Given the description of an element on the screen output the (x, y) to click on. 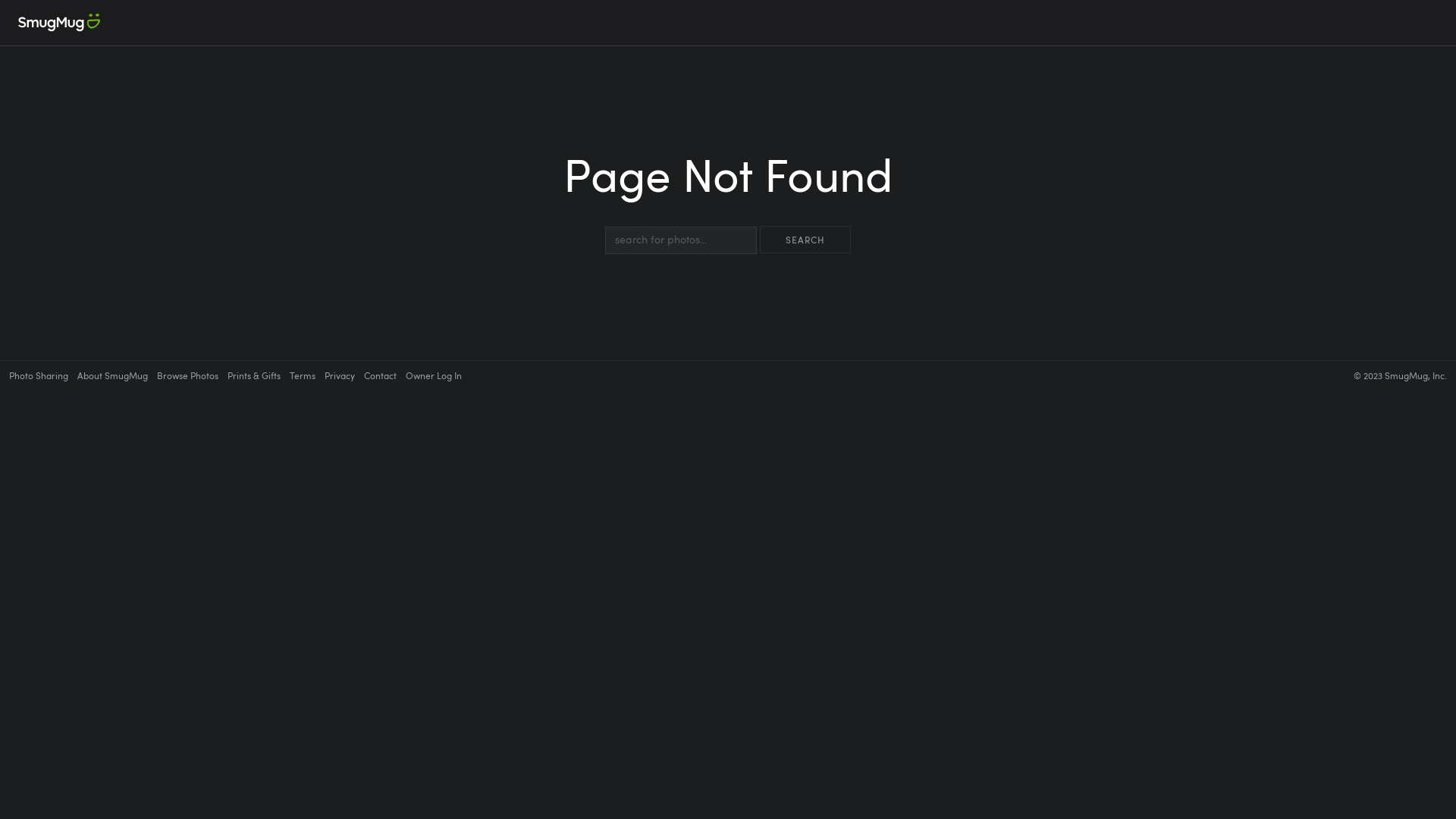
Privacy Element type: text (339, 375)
SmugMug Element type: hover (59, 22)
Terms Element type: text (302, 375)
Page Not Found Element type: text (727, 187)
About SmugMug Element type: text (112, 375)
Contact Element type: text (380, 375)
Prints & Gifts Element type: text (253, 375)
Owner Log In Element type: text (433, 375)
Browse Photos Element type: text (187, 375)
SEARCH Element type: text (804, 239)
Photo Sharing Element type: text (38, 375)
